Given the description of an element on the screen output the (x, y) to click on. 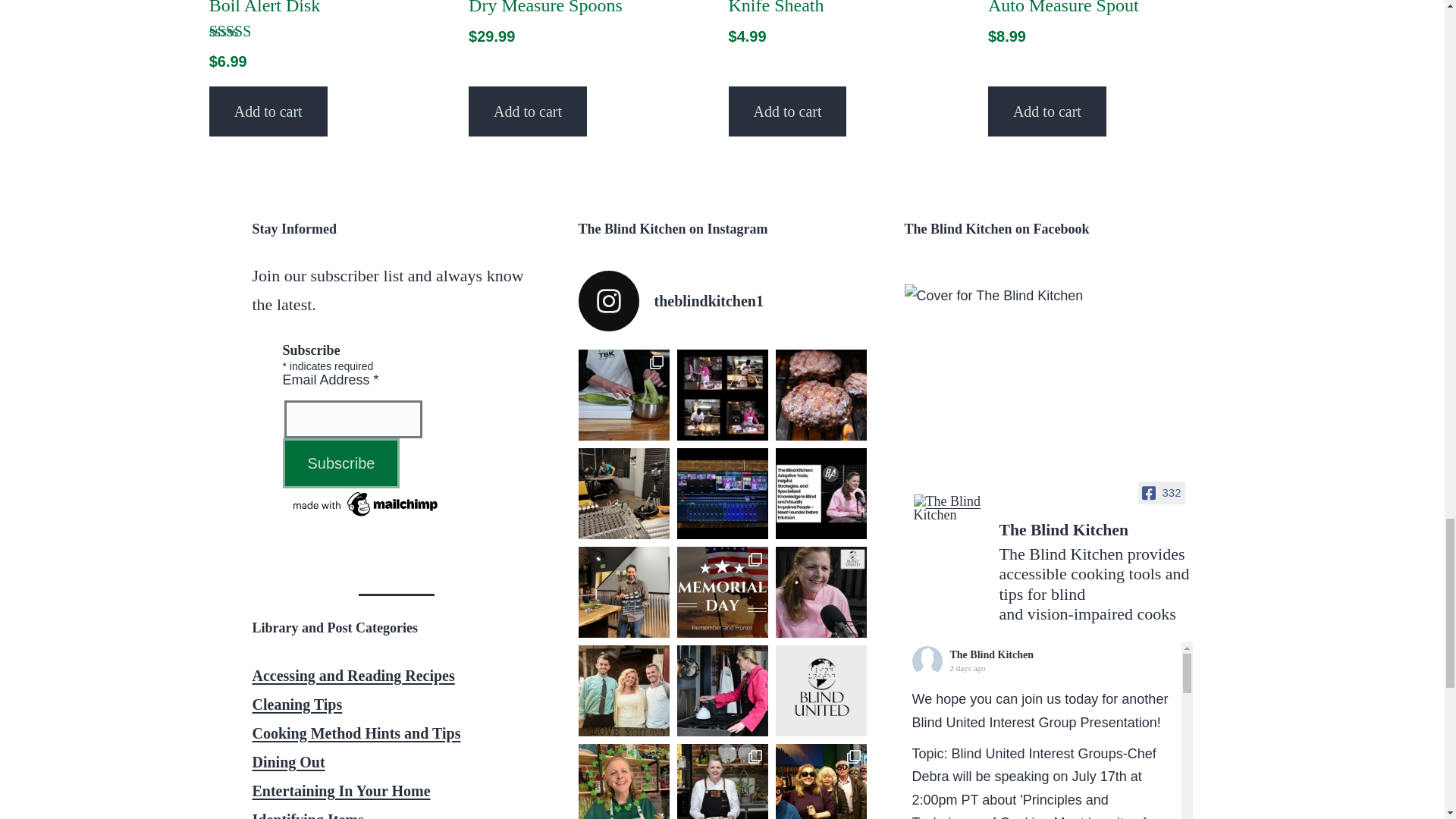
The Blind Kitchen (1068, 531)
Add to cart (527, 111)
Mailchimp - email marketing made easy and fun (365, 502)
Add to cart (1047, 111)
Add to cart (786, 111)
Subscribe (340, 463)
The Blind Kitchen (949, 508)
Add to cart (268, 111)
